Given the description of an element on the screen output the (x, y) to click on. 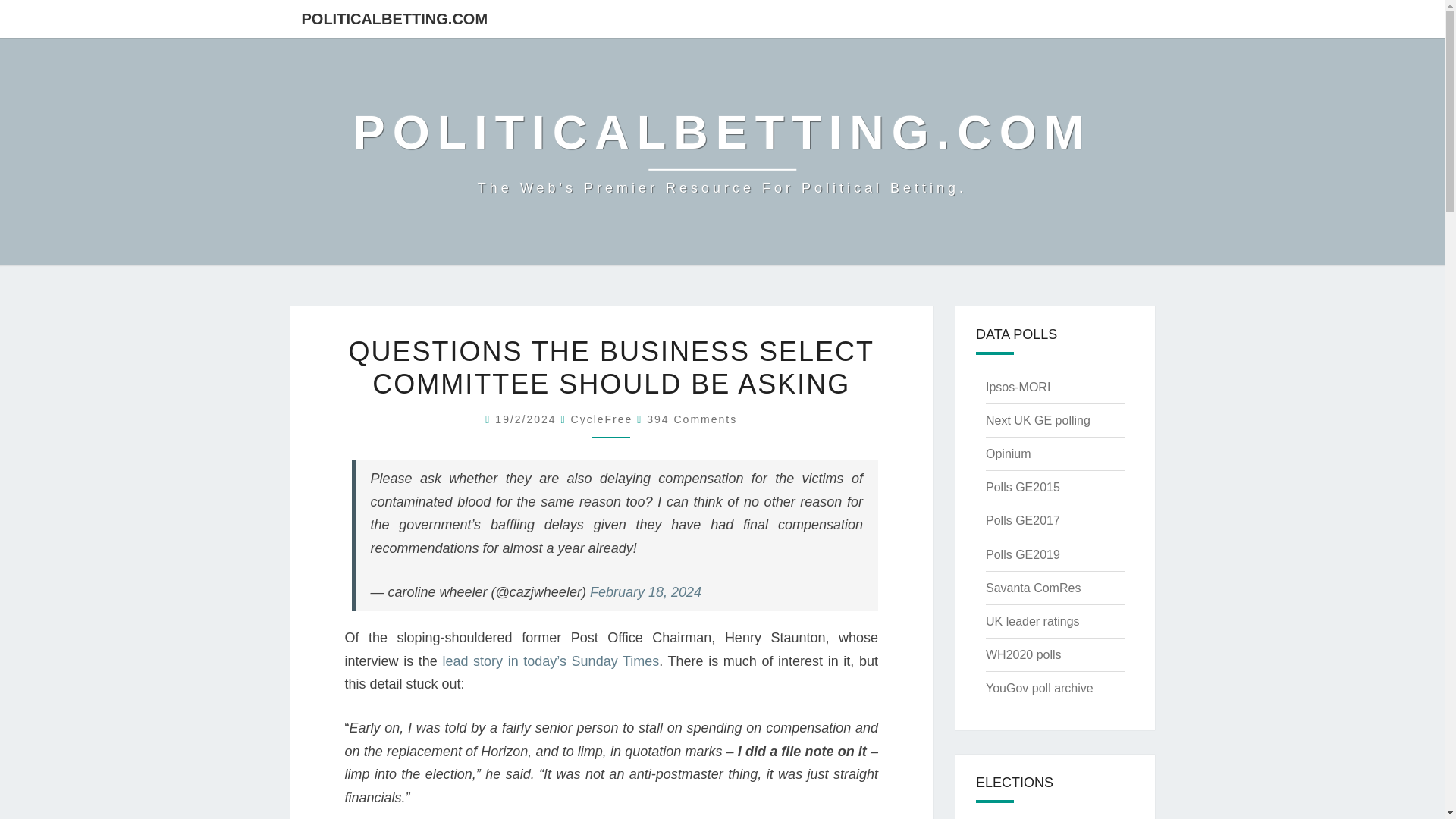
01:51 (527, 419)
CycleFree (601, 419)
YouGov poll archive (1039, 687)
Polls GE2015 (1022, 486)
politicalbetting.com (721, 151)
Savanta ComRes (1032, 587)
WH2020 polls (1023, 654)
Opinium (1007, 453)
394 Comments (691, 419)
Polls GE2017 (1022, 520)
UK leader ratings (1032, 621)
Polls GE2019 (1022, 554)
View all posts by CycleFree (601, 419)
Ipsos-MORI (1017, 386)
POLITICALBETTING.COM (394, 18)
